Given the description of an element on the screen output the (x, y) to click on. 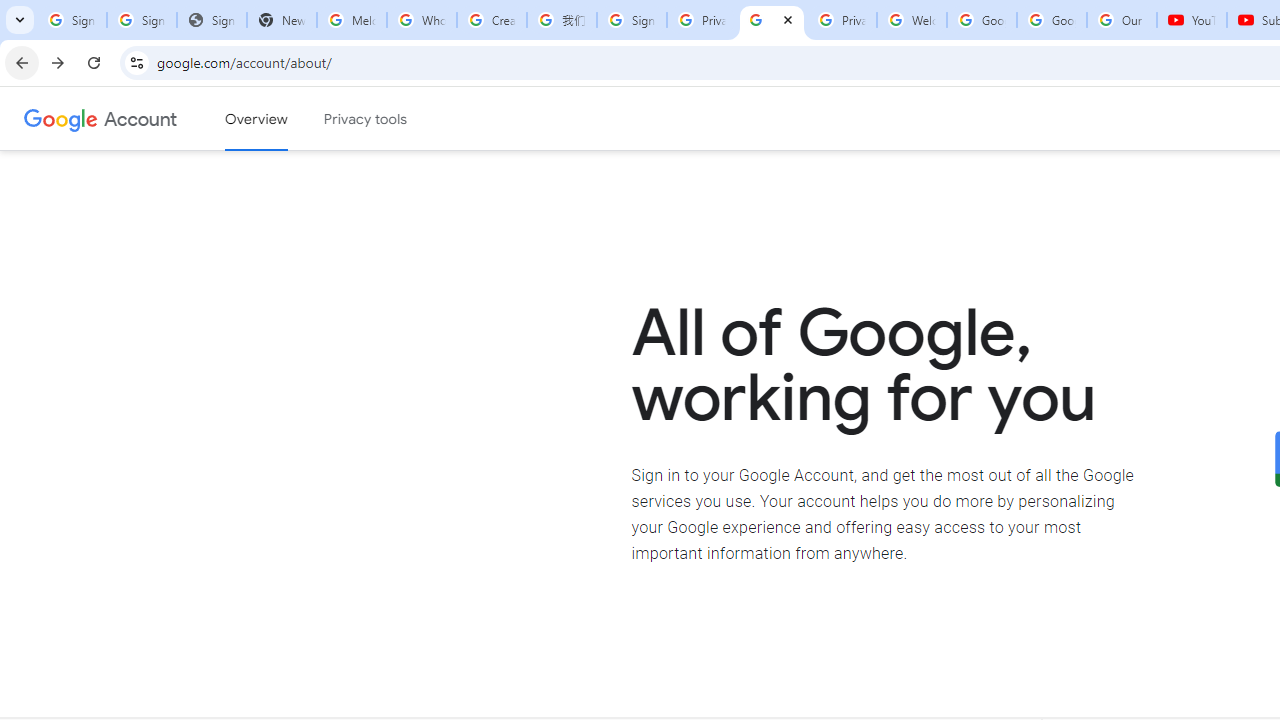
Google Account overview (256, 119)
Privacy tools (365, 119)
YouTube (1192, 20)
Sign in - Google Accounts (631, 20)
Sign in - Google Accounts (72, 20)
New Tab (282, 20)
Google Account (140, 118)
Skip to Content (285, 115)
Create your Google Account (492, 20)
Sign In - USA TODAY (211, 20)
